Given the description of an element on the screen output the (x, y) to click on. 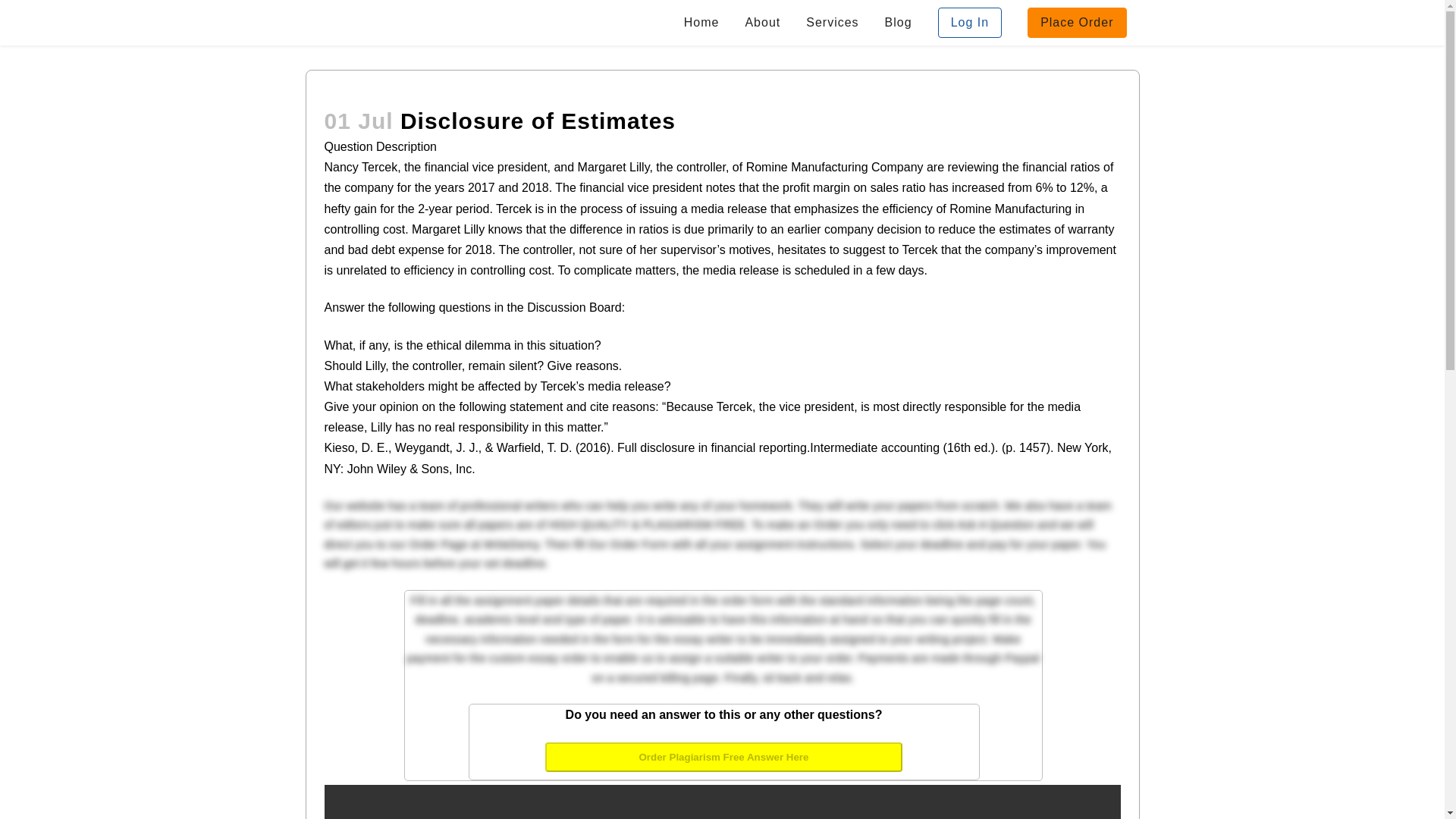
Blog (898, 22)
Log In (969, 22)
About (762, 22)
Services (831, 22)
Order Plagiarism Free Answer Here (722, 755)
Home (701, 22)
Order Plagiarism Free Answer Here (722, 756)
Place Order (1076, 22)
